Given the description of an element on the screen output the (x, y) to click on. 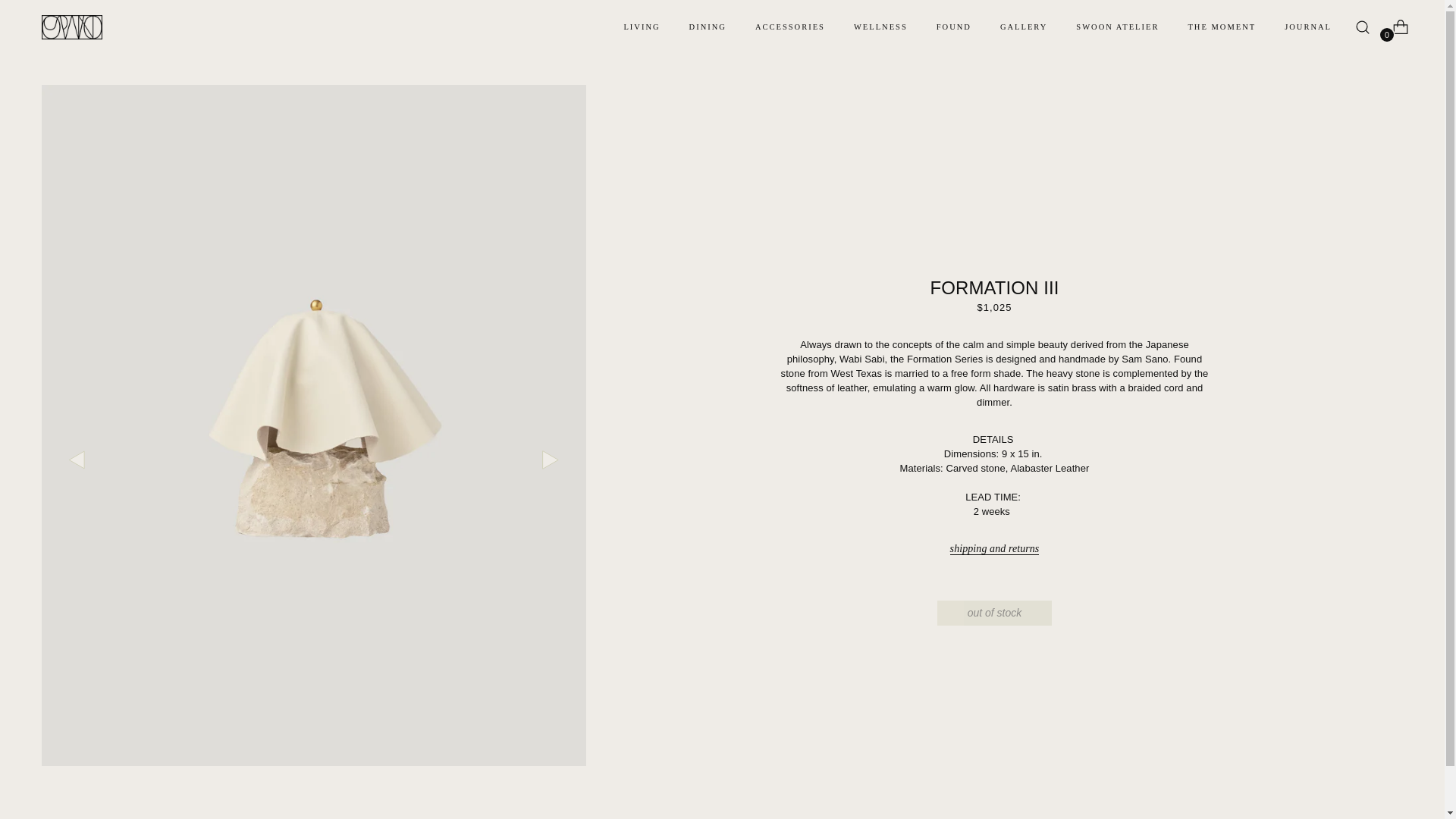
LIVING (641, 26)
GALLERY (1023, 26)
ACCESSORIES (790, 26)
THE MOMENT (1221, 26)
FOUND (953, 26)
DINING (707, 26)
SWOON ATELIER (1116, 26)
JOURNAL (1308, 26)
WELLNESS (880, 26)
